Given the description of an element on the screen output the (x, y) to click on. 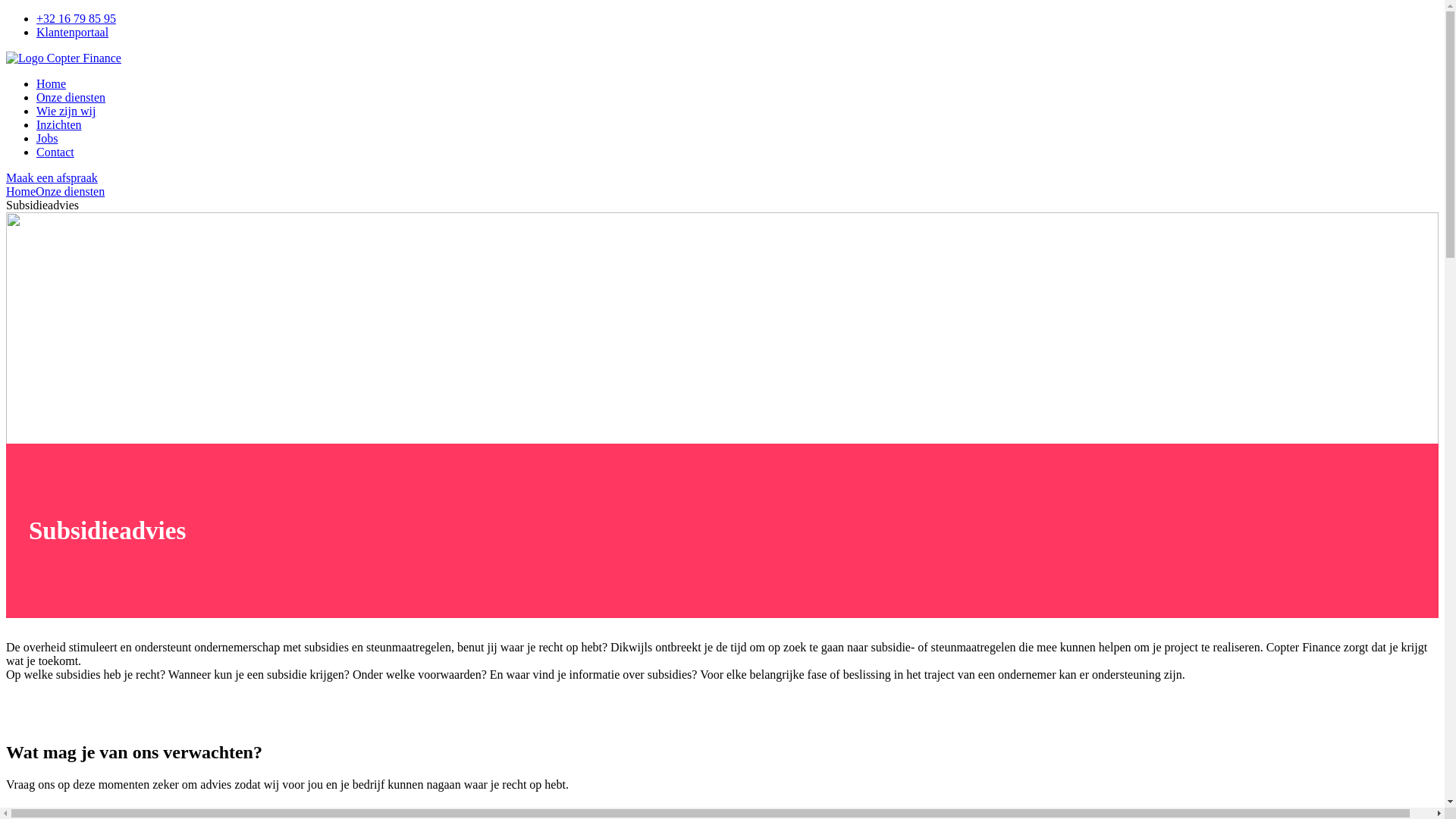
Jobs Element type: text (46, 137)
Home Element type: text (50, 83)
Onze diensten Element type: text (69, 191)
Klantenportaal Element type: text (72, 31)
Contact Element type: text (55, 151)
+32 16 79 85 95 Element type: text (76, 18)
Maak een afspraak Element type: text (51, 177)
Inzichten Element type: text (58, 124)
Onze diensten Element type: text (70, 97)
Wie zijn wij Element type: text (65, 110)
Home Element type: text (20, 191)
